Given the description of an element on the screen output the (x, y) to click on. 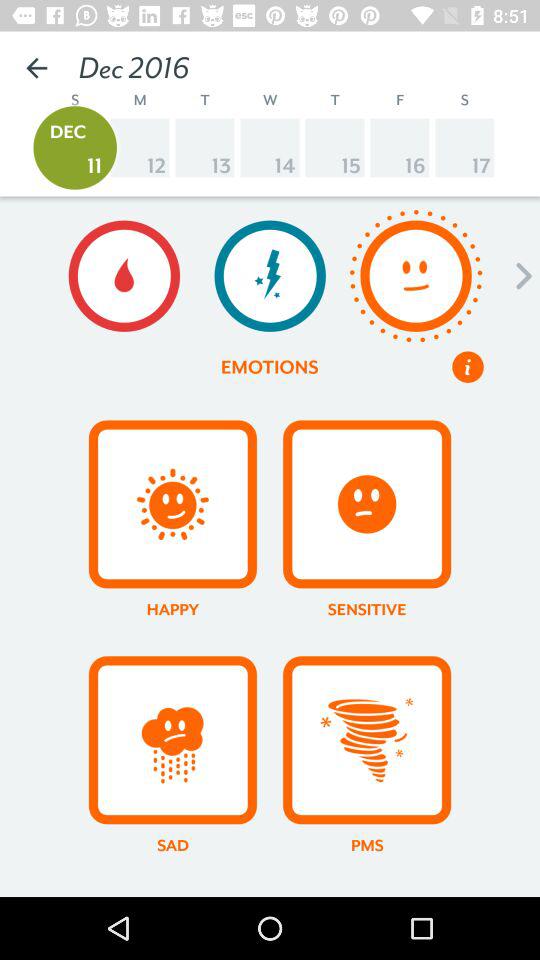
click on icon above emotions (270, 276)
click on icon above sensitive (366, 504)
